Given the description of an element on the screen output the (x, y) to click on. 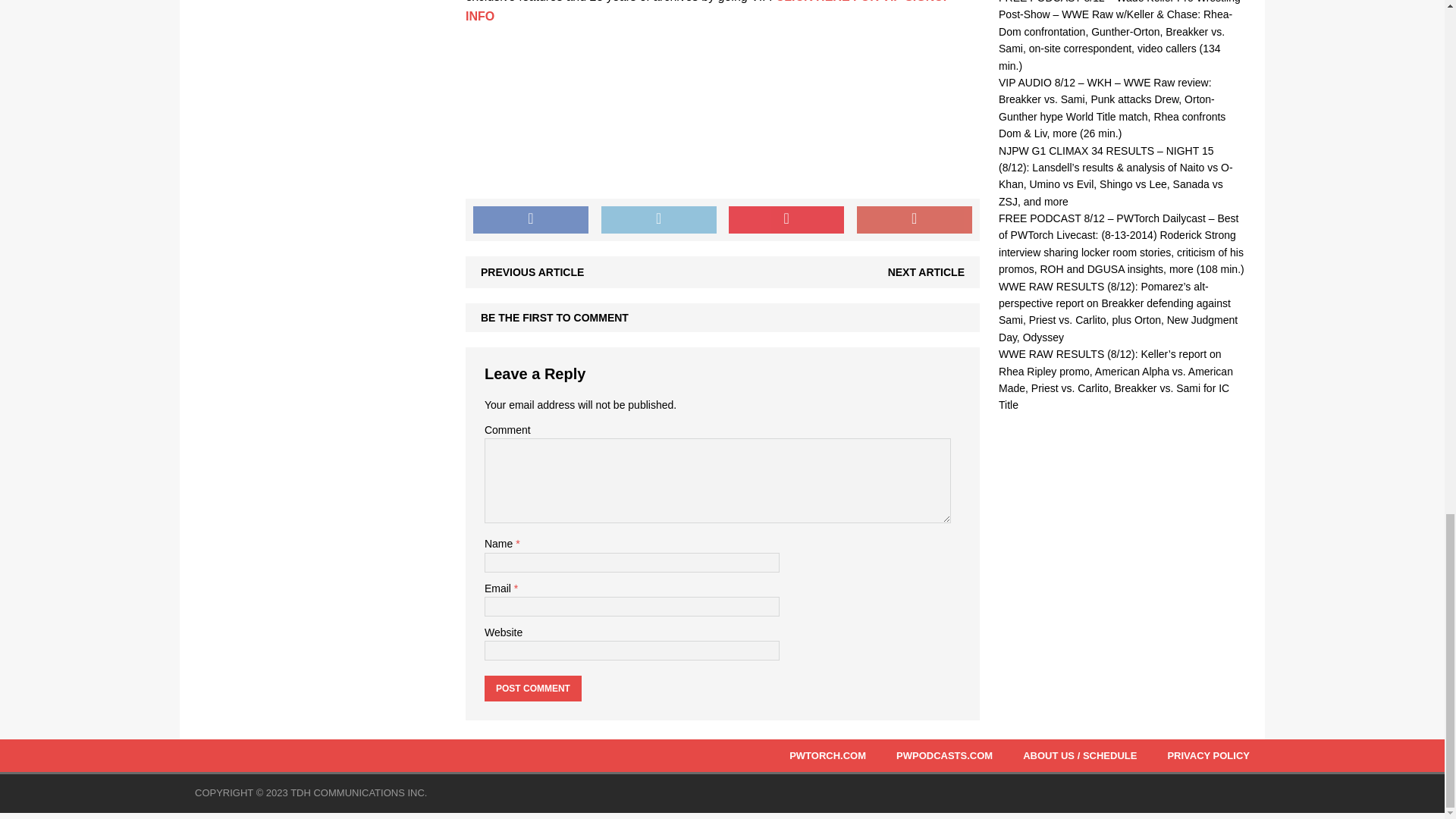
Pin This Post (786, 219)
Post Comment (532, 688)
Share on Facebook (530, 219)
Tweet This Post (658, 219)
